Given the description of an element on the screen output the (x, y) to click on. 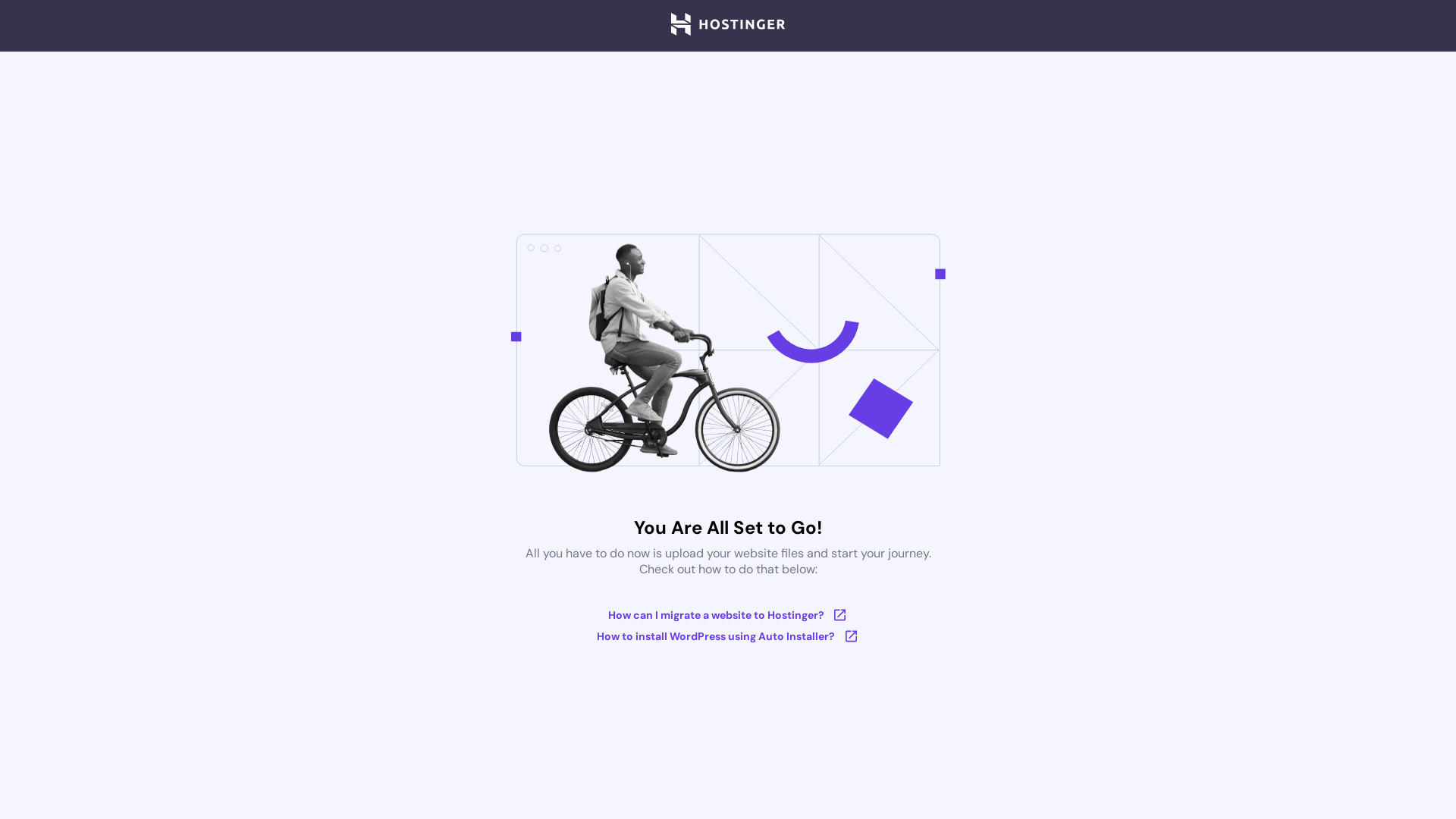
How can I migrate a website to Hostinger? Element type: text (727, 614)
How to install WordPress using Auto Installer? Element type: text (727, 635)
